Given the description of an element on the screen output the (x, y) to click on. 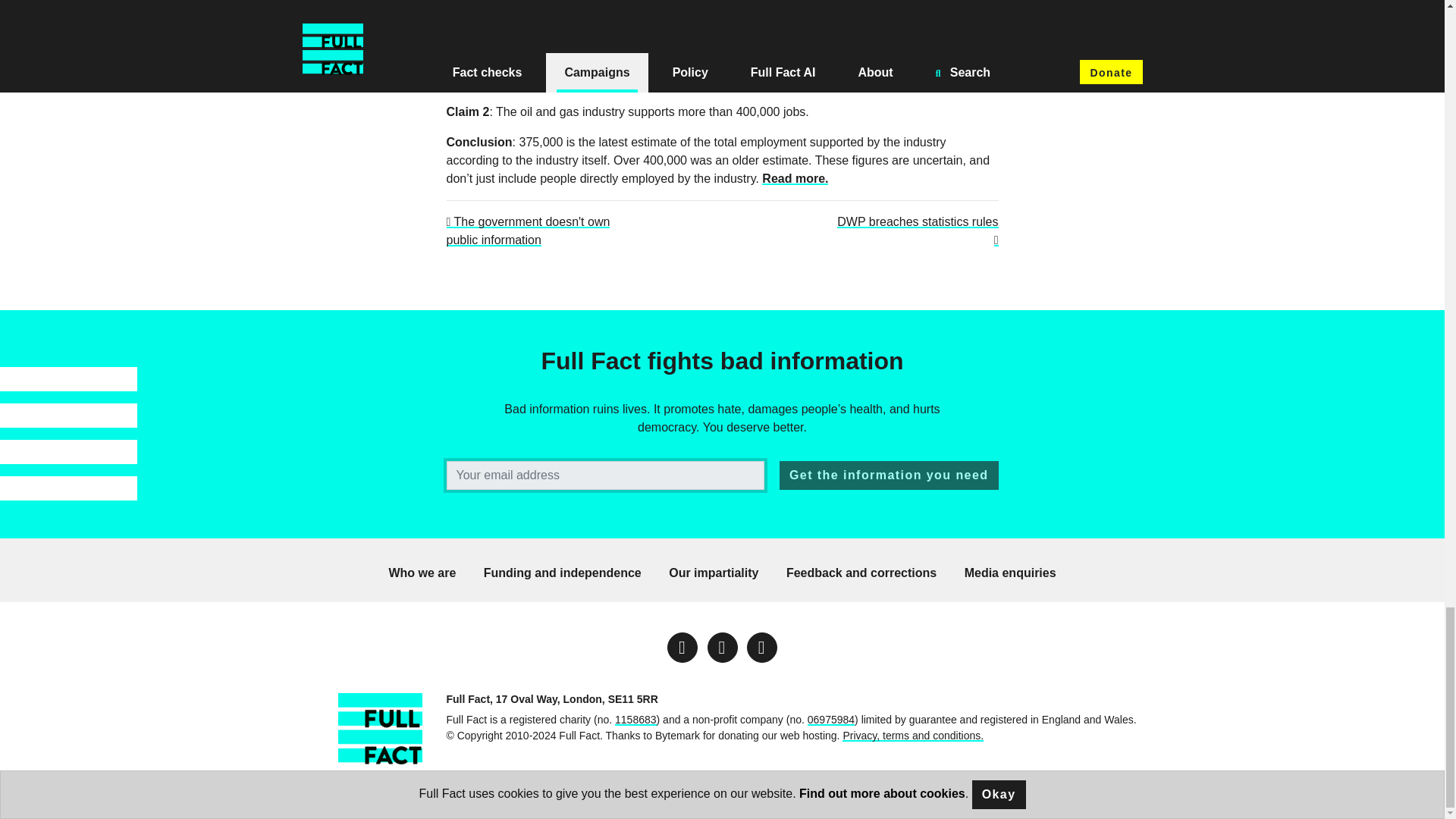
Link opens in a new window (681, 647)
Link opens in a new window (721, 647)
Link opens in a new window (761, 647)
